Given the description of an element on the screen output the (x, y) to click on. 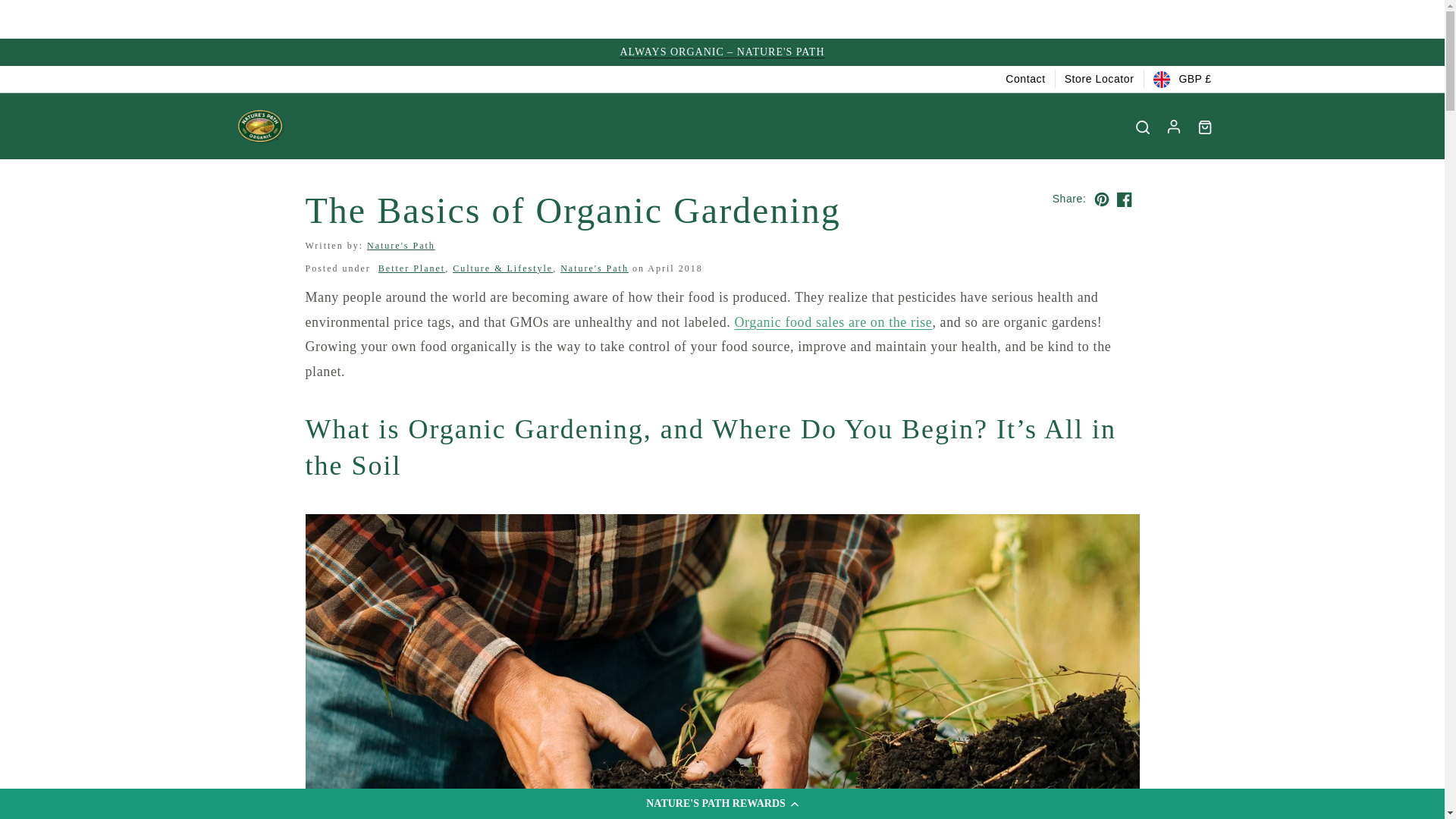
Contact (1025, 78)
Country (1182, 79)
Search (1142, 127)
Store Locator (1099, 78)
NATURE'S PATH (259, 126)
Account (1172, 126)
Skip to content (45, 16)
Cart (1204, 127)
